Given the description of an element on the screen output the (x, y) to click on. 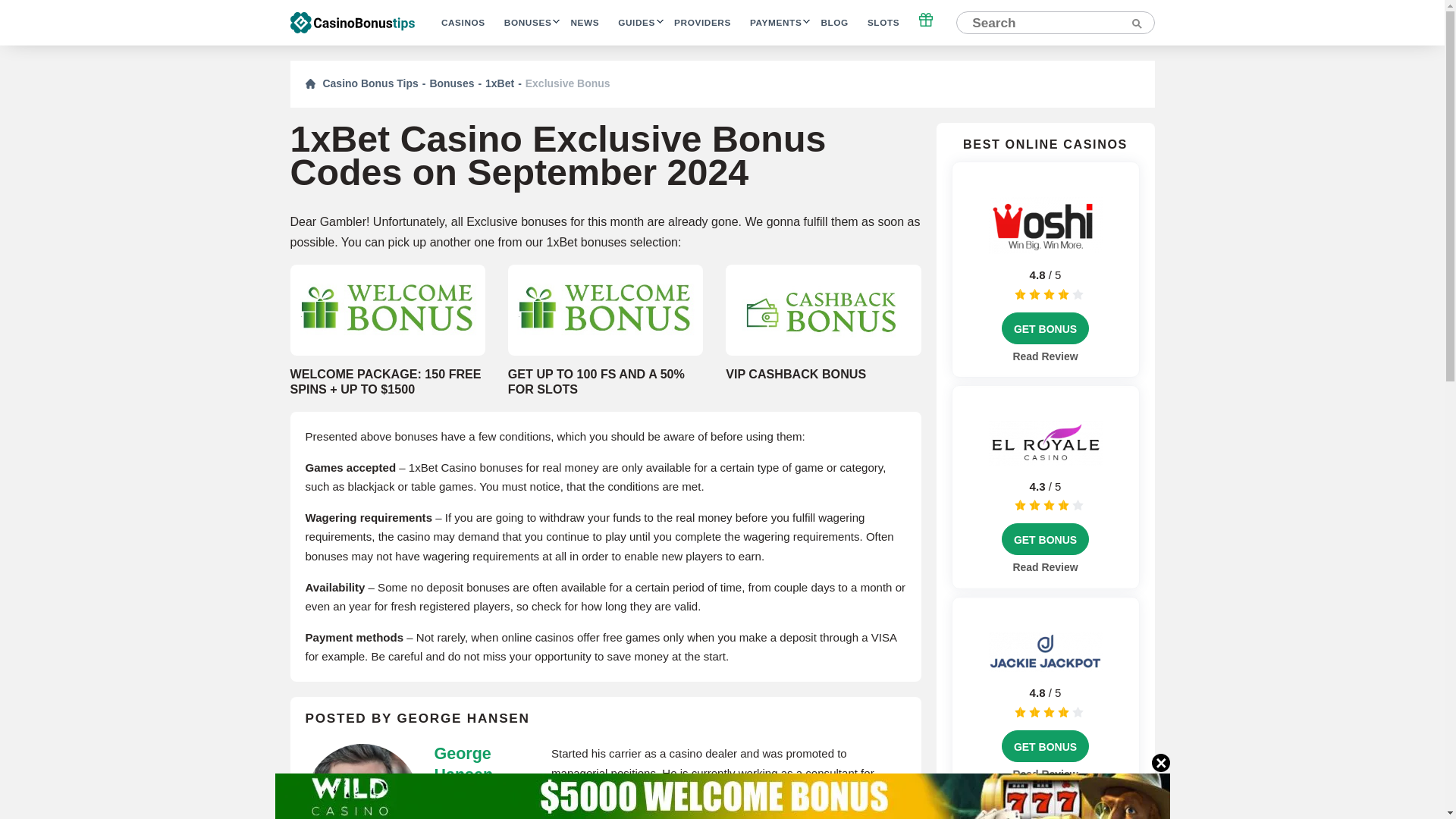
SLOTS (883, 22)
BONUSES (527, 22)
BLOG (834, 22)
CASINOS (462, 22)
GUIDES (636, 22)
PAYMENTS (775, 22)
NEWS (584, 22)
PROVIDERS (702, 22)
